Given the description of an element on the screen output the (x, y) to click on. 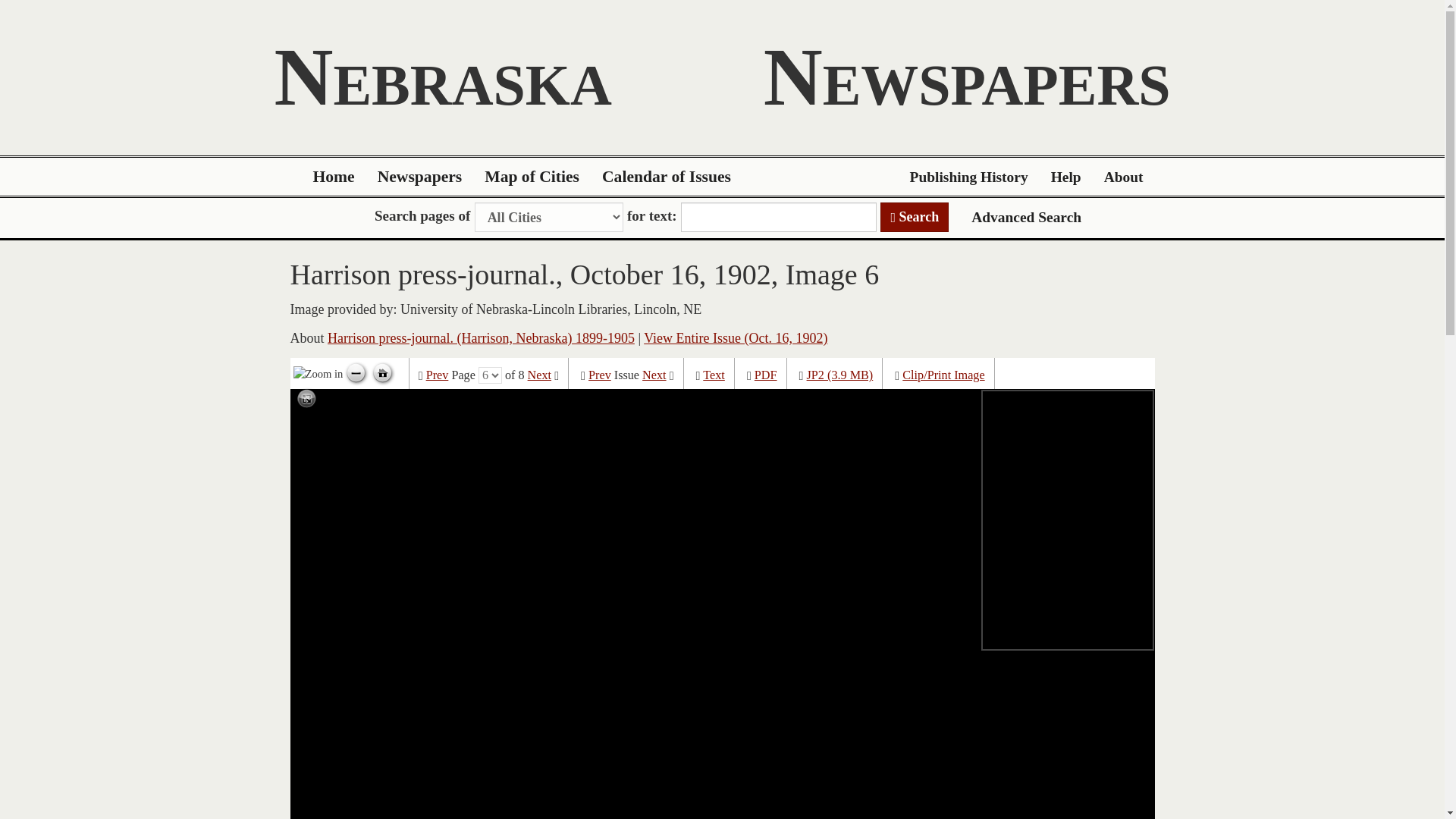
Home (333, 176)
Search (914, 217)
Prev (437, 375)
PDF (765, 375)
Help (1066, 176)
Map of Cities (532, 176)
Text (714, 375)
Zoom in (318, 373)
Prev (599, 375)
Toggle full page (307, 399)
